Given the description of an element on the screen output the (x, y) to click on. 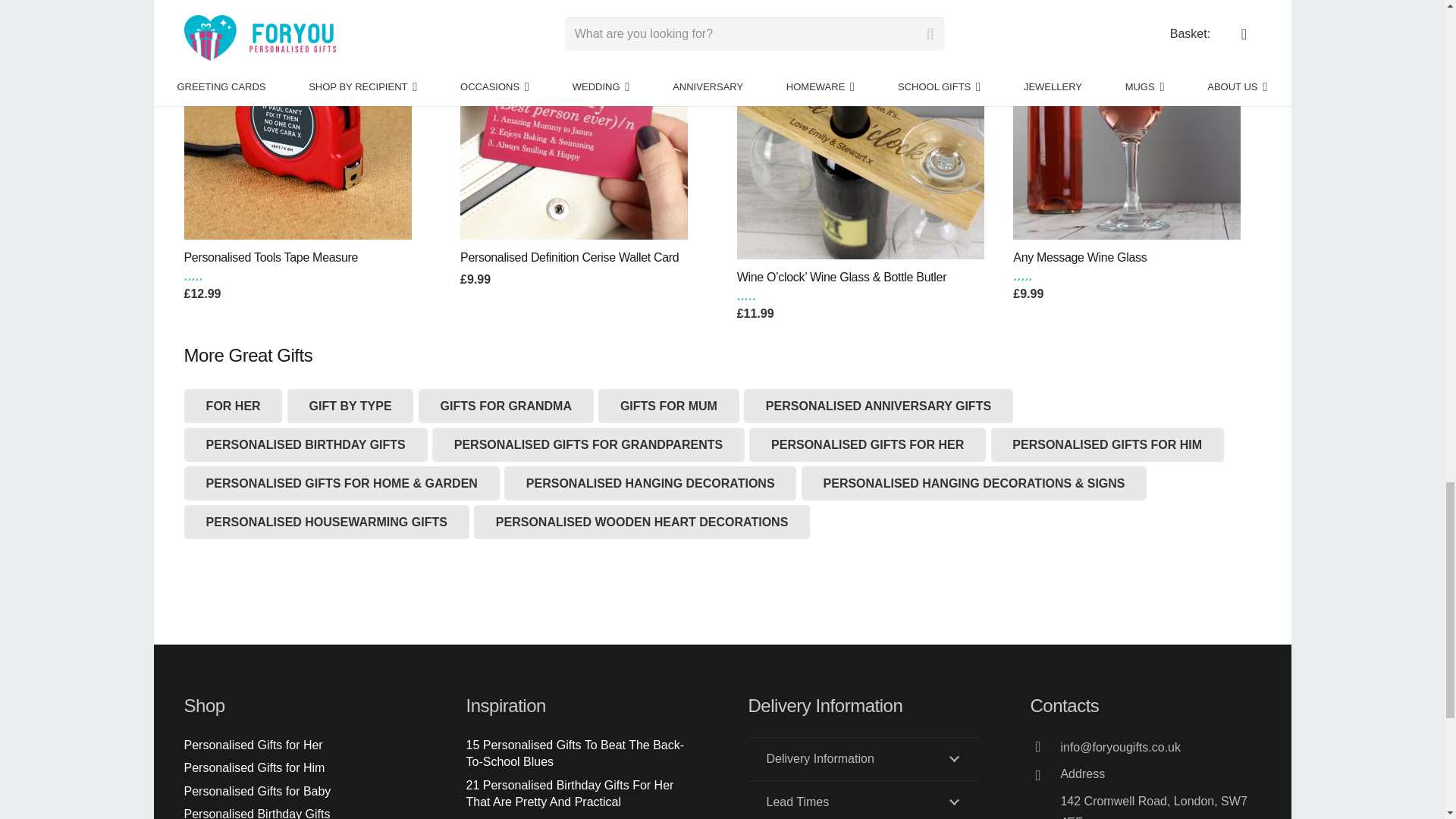
Contact Us (1159, 777)
Personalised Tools Tape Measure (296, 125)
Personalised Definition Cerise Wallet Card (573, 125)
Any Message Wine Glass (1126, 125)
Contact Us (863, 778)
